Given the description of an element on the screen output the (x, y) to click on. 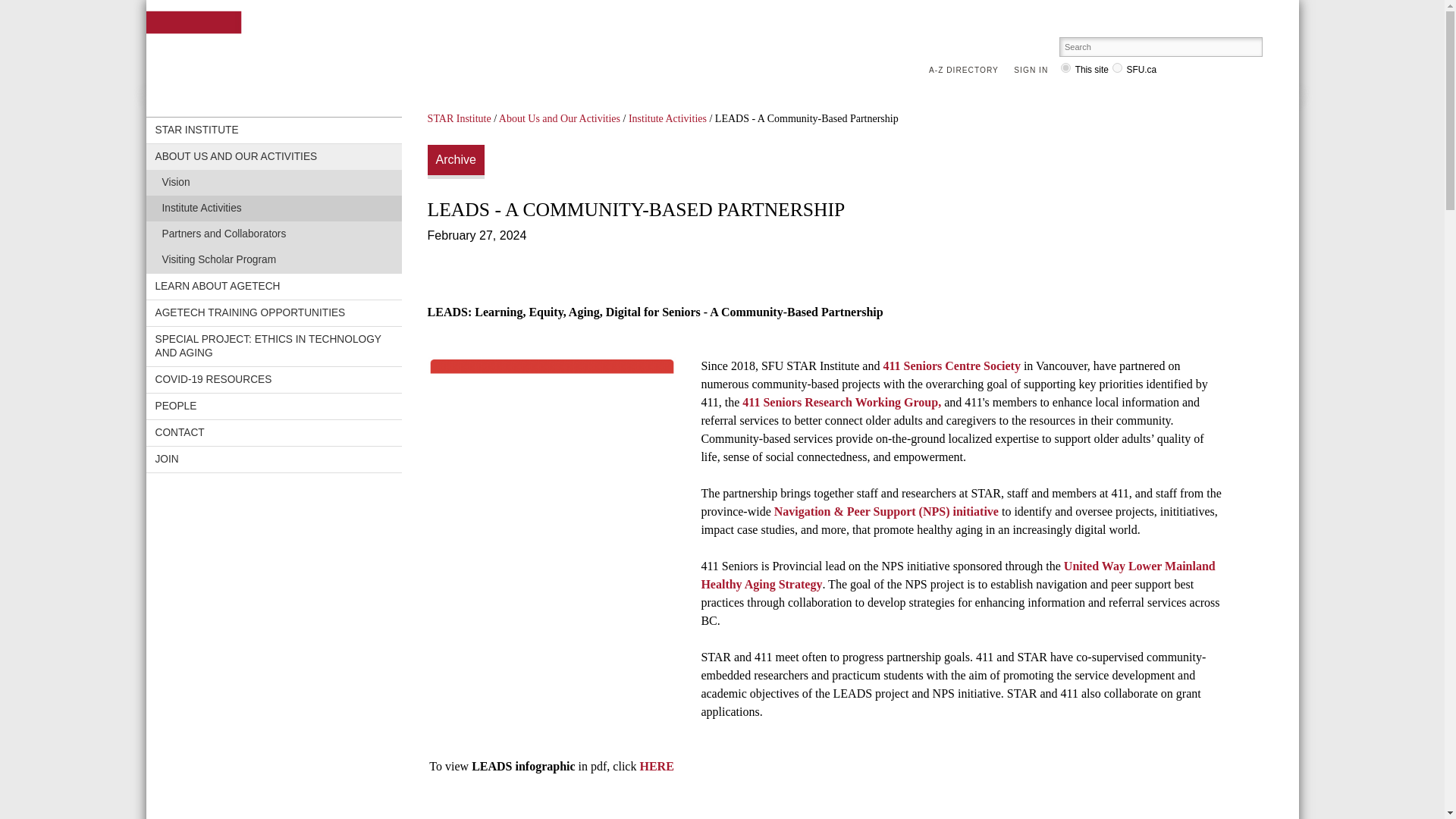
site (1065, 67)
sfu (1117, 67)
Archive (456, 161)
SIGN IN (1034, 70)
STAR INSTITUTE (246, 34)
A-Z DIRECTORY (967, 70)
